Given the description of an element on the screen output the (x, y) to click on. 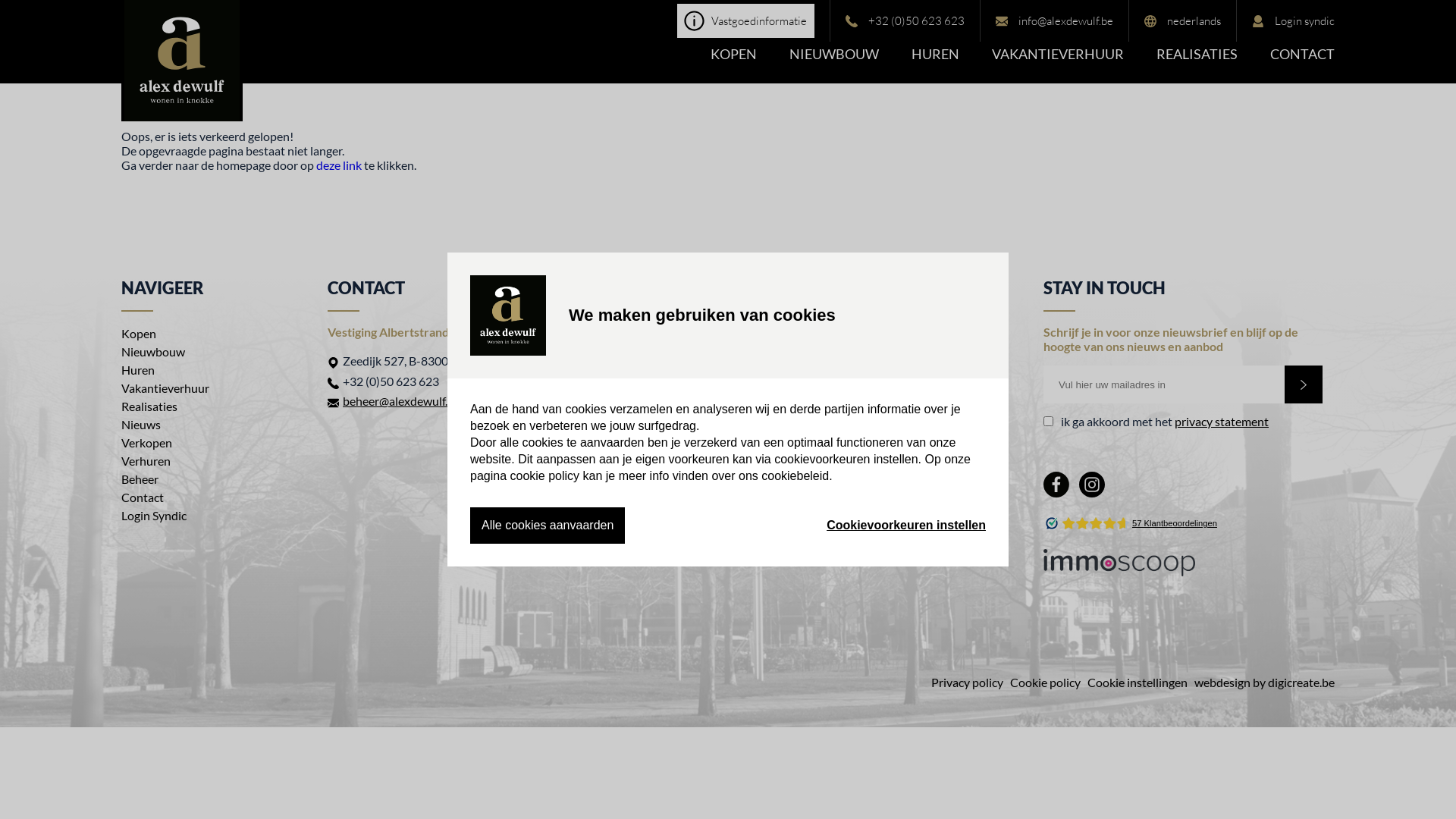
Beheer Element type: text (139, 478)
Vakantieverhuur Element type: text (165, 387)
Verhuren Element type: text (145, 460)
nederlands Element type: text (1182, 20)
Cookie policy Element type: text (1045, 681)
privacy statement Element type: text (1221, 421)
+32 (0)50 623 623 Element type: text (904, 20)
Login Syndic Element type: text (153, 515)
Privacy policy Element type: text (967, 681)
Huren Element type: text (137, 369)
beheer@alexdewulf.be Element type: text (401, 400)
cookie policy Element type: text (544, 475)
Login syndic Element type: text (1293, 20)
Realisaties Element type: text (149, 405)
Verstuur Element type: text (1303, 384)
info@alexdewulf.be Element type: text (1054, 20)
Nieuwbouw Element type: text (153, 351)
Verkopen Element type: text (146, 442)
CONTACT Element type: text (1302, 64)
info@alexdewulf.be Element type: text (752, 400)
Kopen Element type: text (138, 333)
deze link Element type: text (338, 164)
webdesign by digicreate.be Element type: text (1264, 681)
NIEUWBOUW Element type: text (833, 64)
Nieuws Element type: text (140, 424)
REALISATIES Element type: text (1196, 64)
Cookie instellingen Element type: text (1137, 681)
Alle cookies aanvaarden Element type: text (547, 525)
VAKANTIEVERHUUR Element type: text (1057, 64)
Cookievoorkeuren instellen Element type: text (905, 525)
Contact Element type: text (142, 496)
Vastgoedinformatie Element type: text (745, 20)
HUREN Element type: text (935, 64)
KOPEN Element type: text (733, 64)
